Given the description of an element on the screen output the (x, y) to click on. 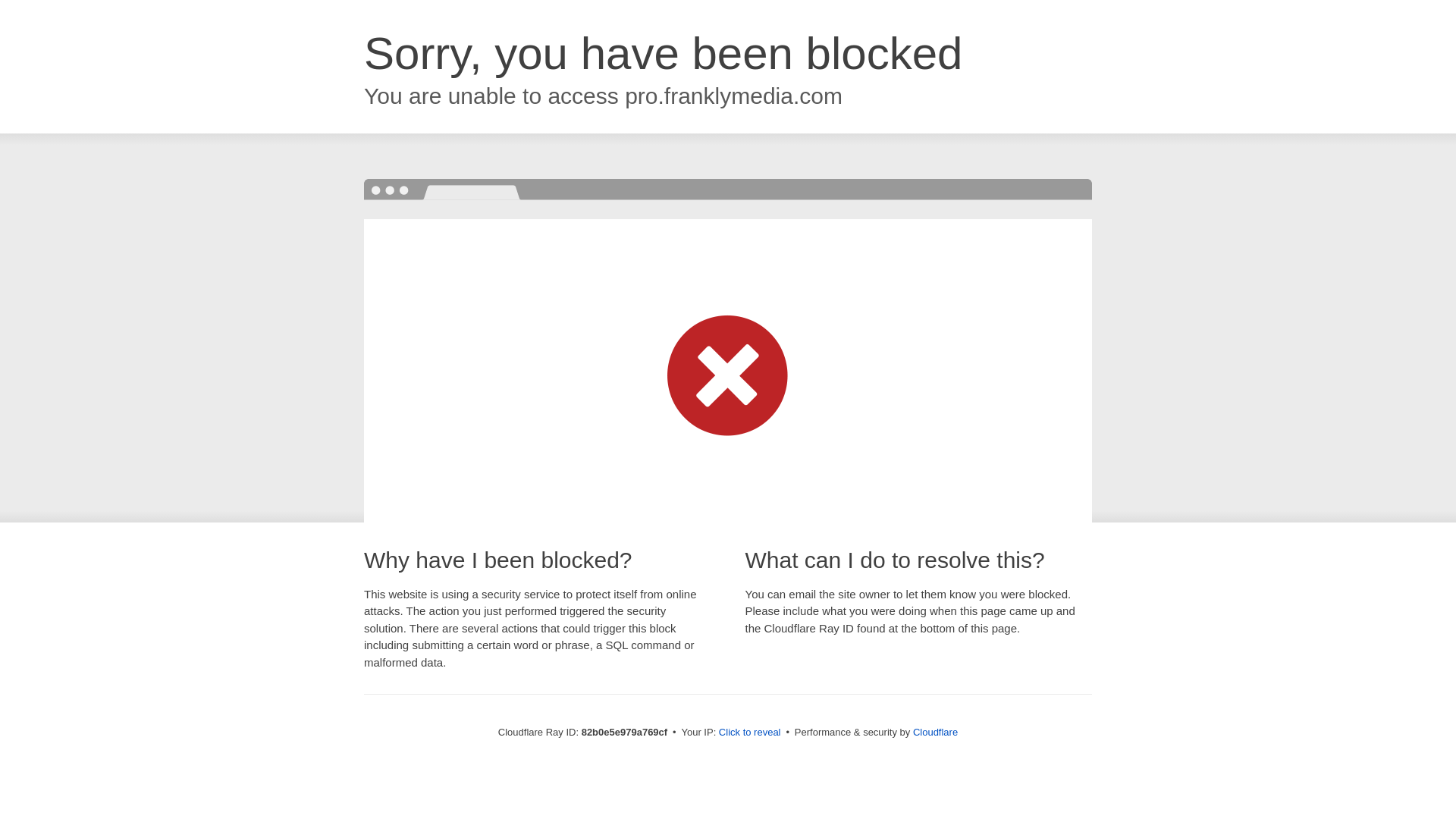
Click to reveal Element type: text (749, 732)
Cloudflare Element type: text (935, 731)
